Given the description of an element on the screen output the (x, y) to click on. 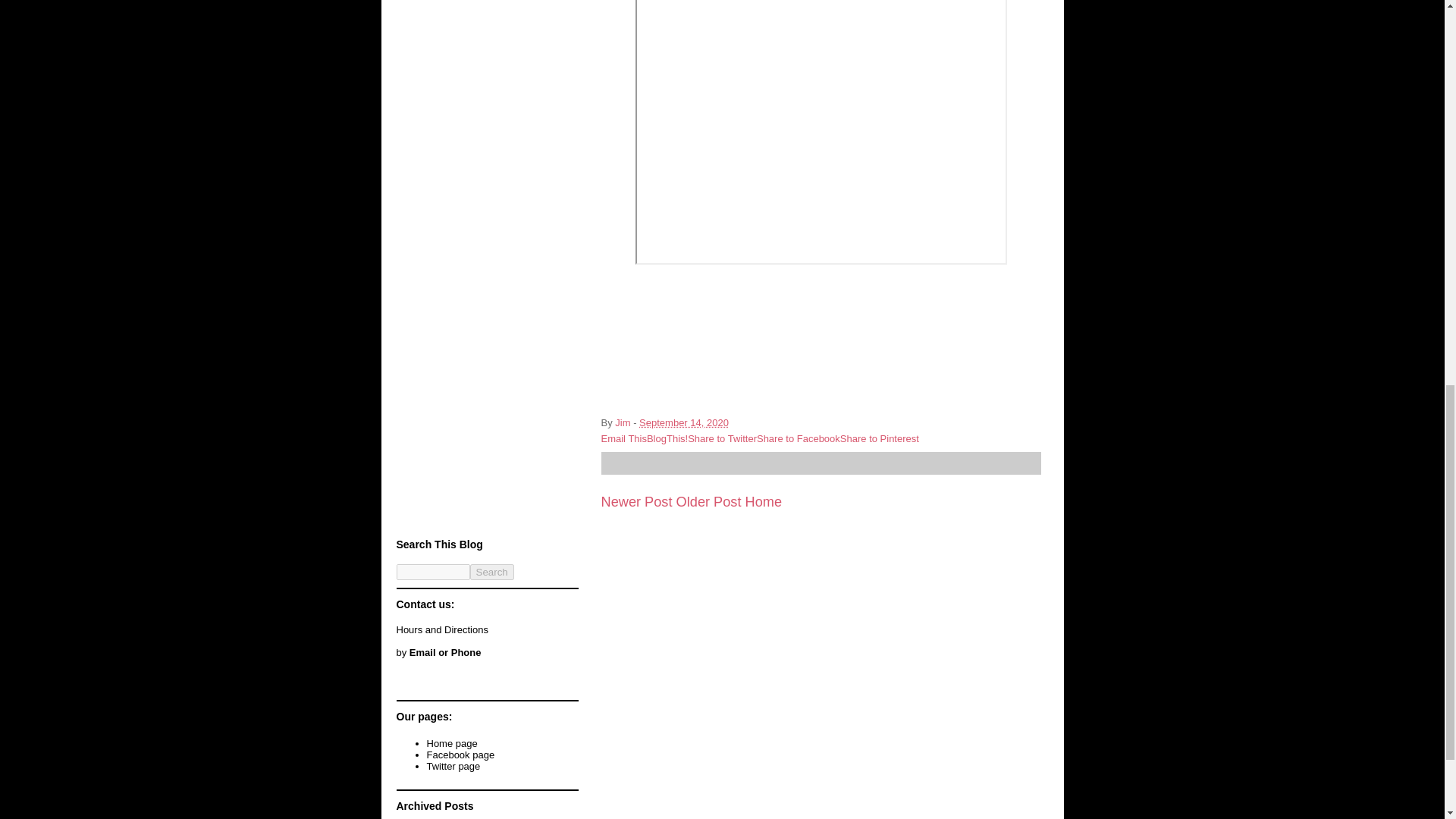
Share to Twitter (722, 438)
Search (491, 571)
Email This (622, 438)
September 14, 2020 (684, 422)
Search (491, 571)
Share to Pinterest (879, 438)
BlogThis! (666, 438)
Hours and Directions (441, 629)
Share to Twitter (722, 438)
Jim (623, 422)
Email Post (738, 422)
Share to Facebook (798, 438)
............ (412, 686)
Newer Post (635, 501)
Share to Pinterest (879, 438)
